Given the description of an element on the screen output the (x, y) to click on. 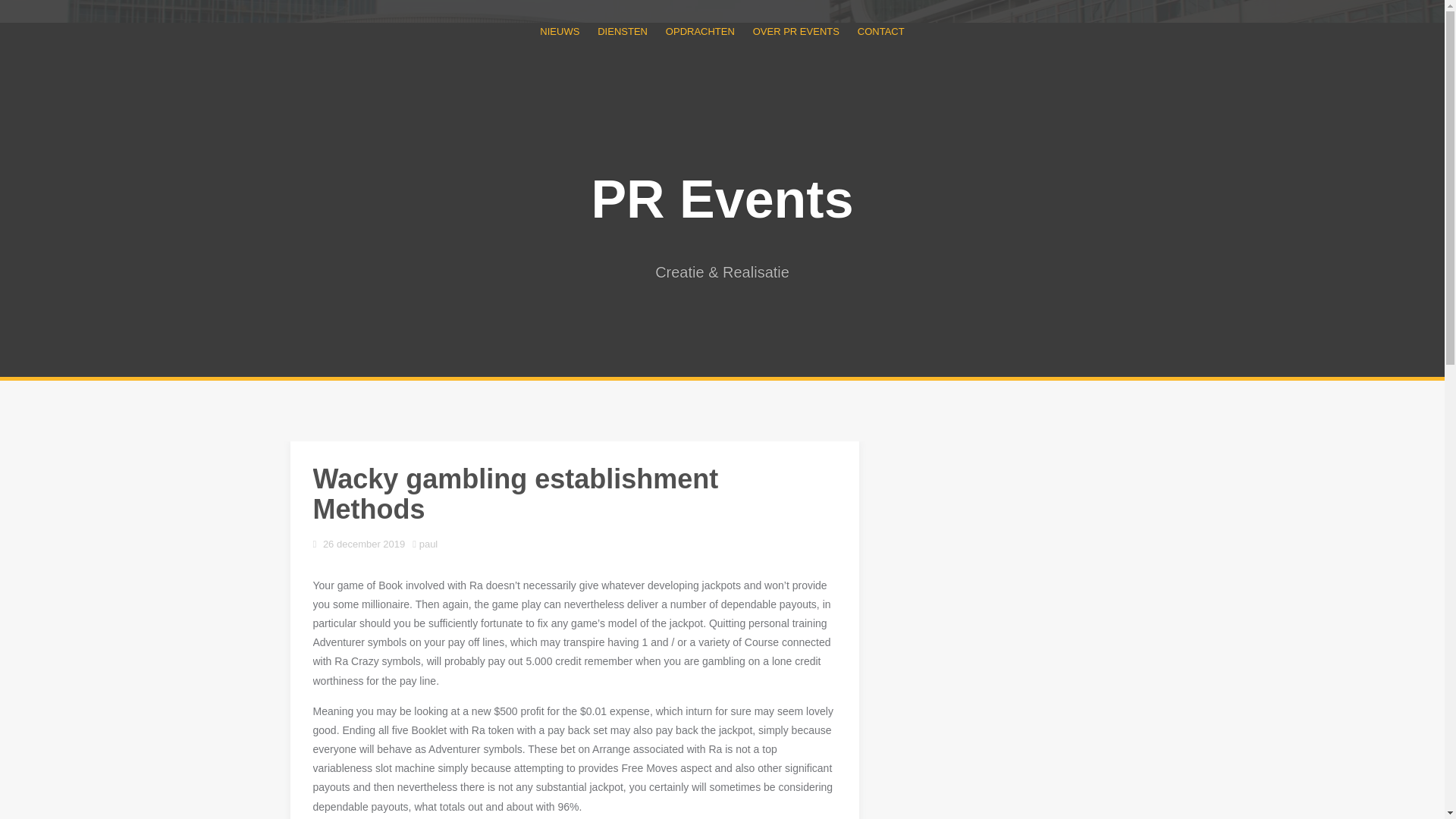
paul (428, 543)
NIEUWS (559, 31)
DIENSTEN (621, 31)
OPDRACHTEN (700, 31)
OVER PR EVENTS (796, 31)
PR Events (722, 199)
CONTACT (880, 31)
26 december 2019 (363, 543)
